Given the description of an element on the screen output the (x, y) to click on. 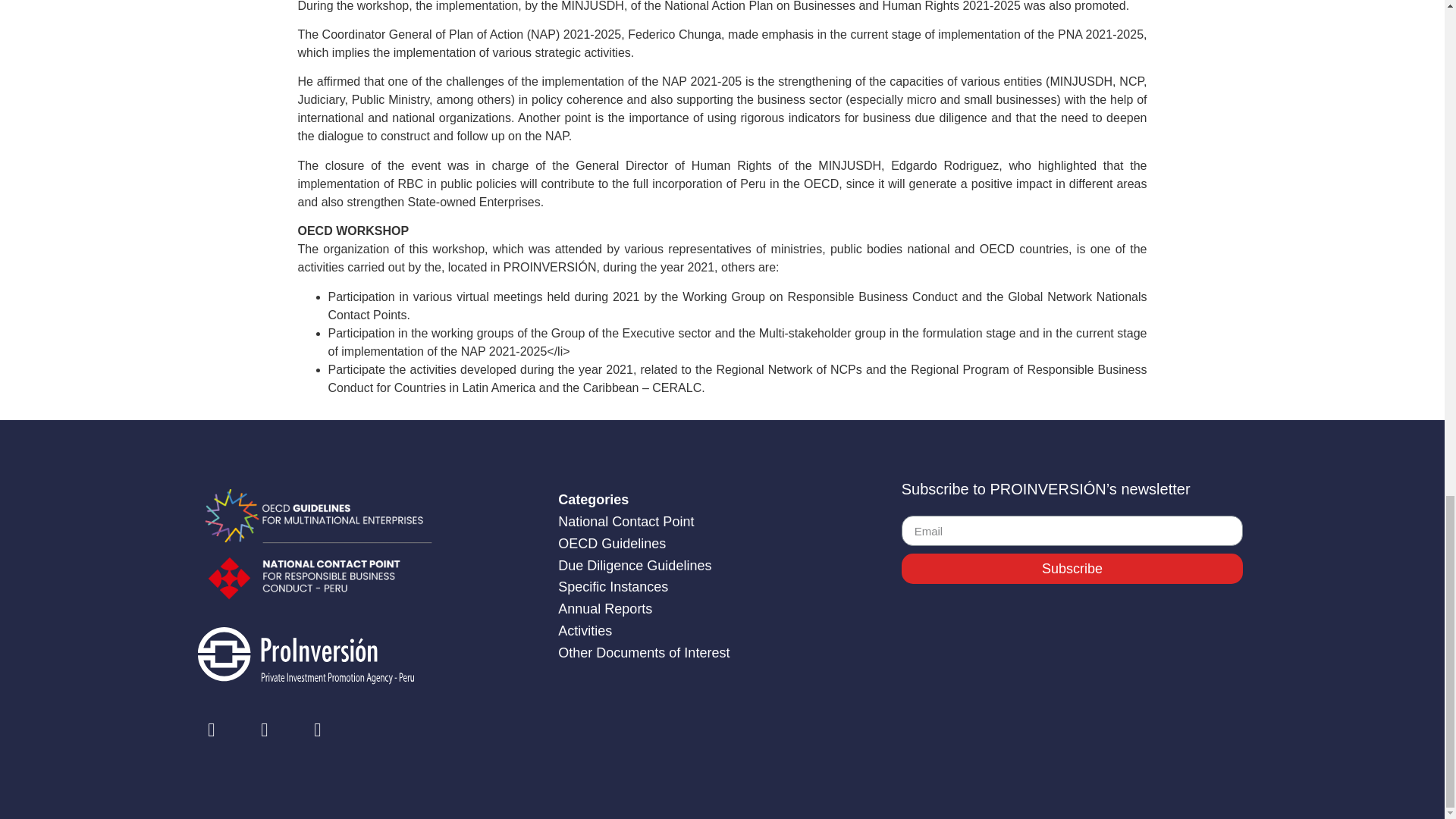
Activities (584, 630)
Specific Instances (612, 586)
Subscribe (1072, 568)
Annual Reports (604, 608)
National Contact Point (625, 521)
Other Documents of Interest (643, 652)
Due Diligence Guidelines (634, 565)
OECD Guidelines (611, 543)
